Given the description of an element on the screen output the (x, y) to click on. 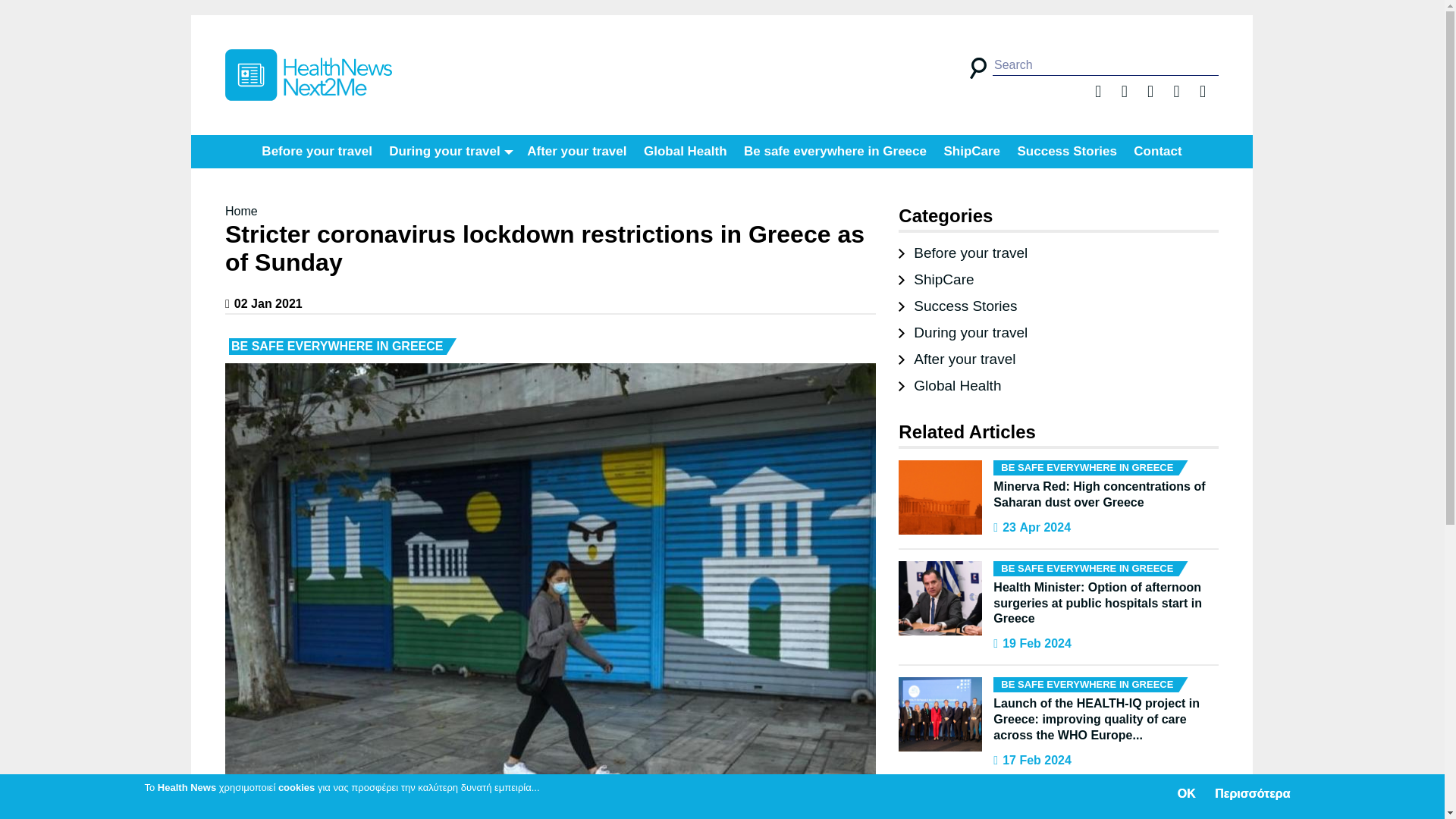
ShipCare (936, 279)
Be safe everywhere in Greece (835, 151)
Success Stories (957, 305)
Global Health (949, 385)
Home (308, 74)
During your travel (962, 332)
After your travel (956, 358)
During your travel (448, 151)
ShipCare (971, 151)
Success Stories (1066, 151)
